Given the description of an element on the screen output the (x, y) to click on. 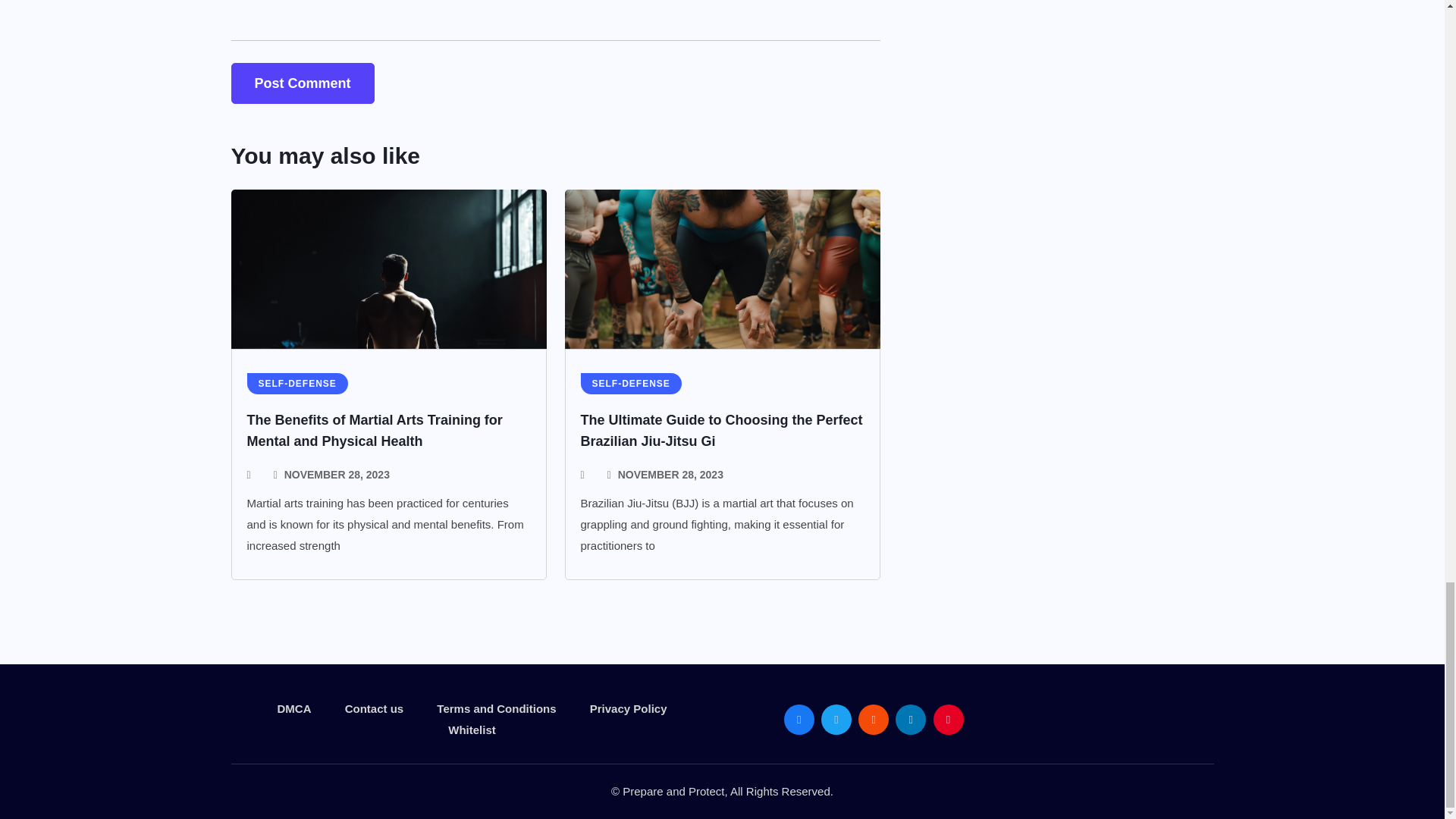
Post Comment (302, 83)
